Given the description of an element on the screen output the (x, y) to click on. 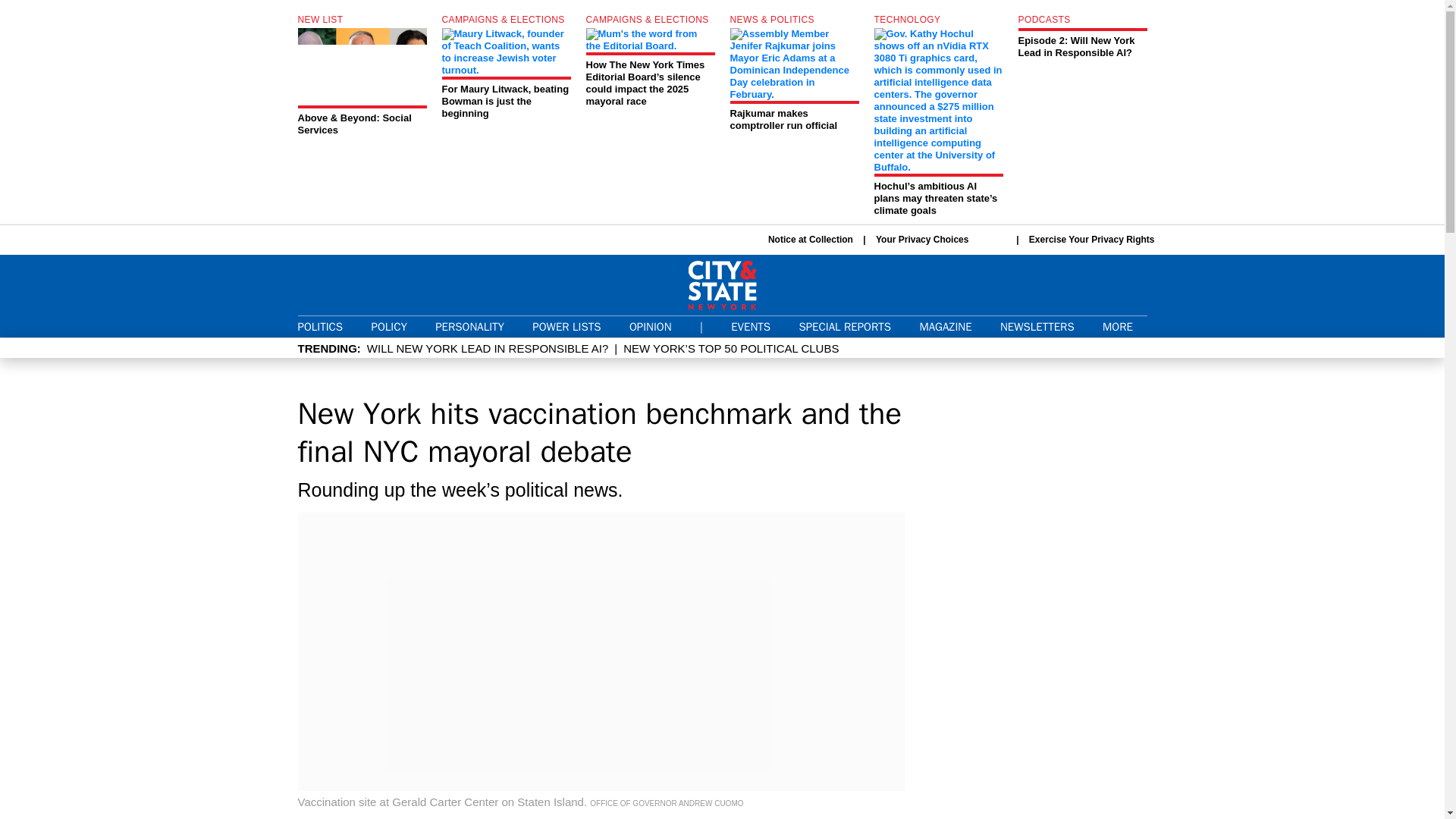
PERSONALITY (469, 326)
Exercise Your Privacy Rights (1091, 239)
NEWSLETTERS (1037, 326)
MAGAZINE (944, 326)
POWER LISTS (565, 326)
MORE (1124, 326)
EVENTS (750, 326)
OPINION (649, 326)
SPECIAL REPORTS (844, 326)
Notice at Collection (810, 239)
